Given the description of an element on the screen output the (x, y) to click on. 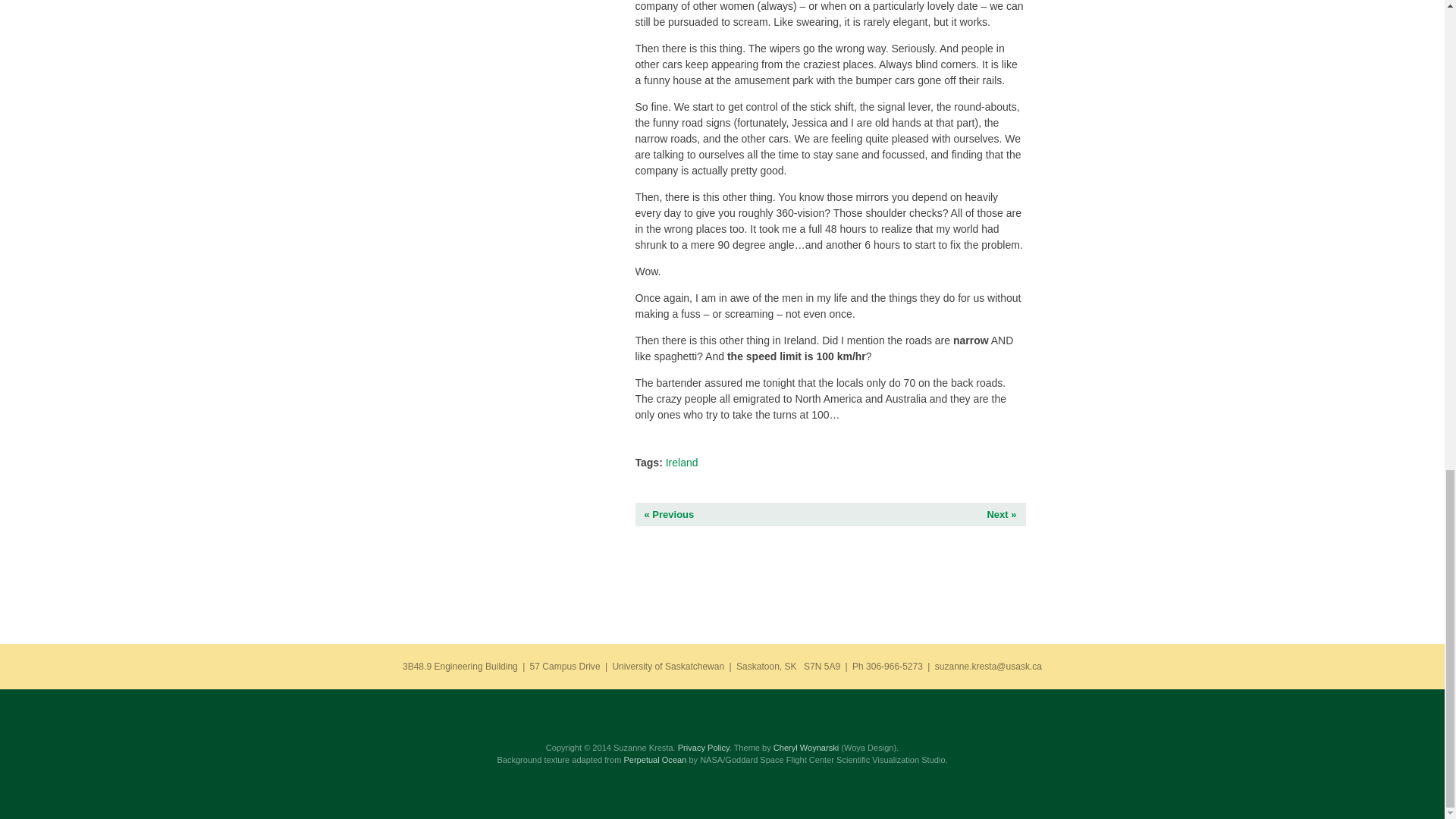
Cheryl Woynarski (805, 747)
Perpetual Ocean (654, 759)
Ireland (681, 462)
Privacy Policy (703, 747)
